Given the description of an element on the screen output the (x, y) to click on. 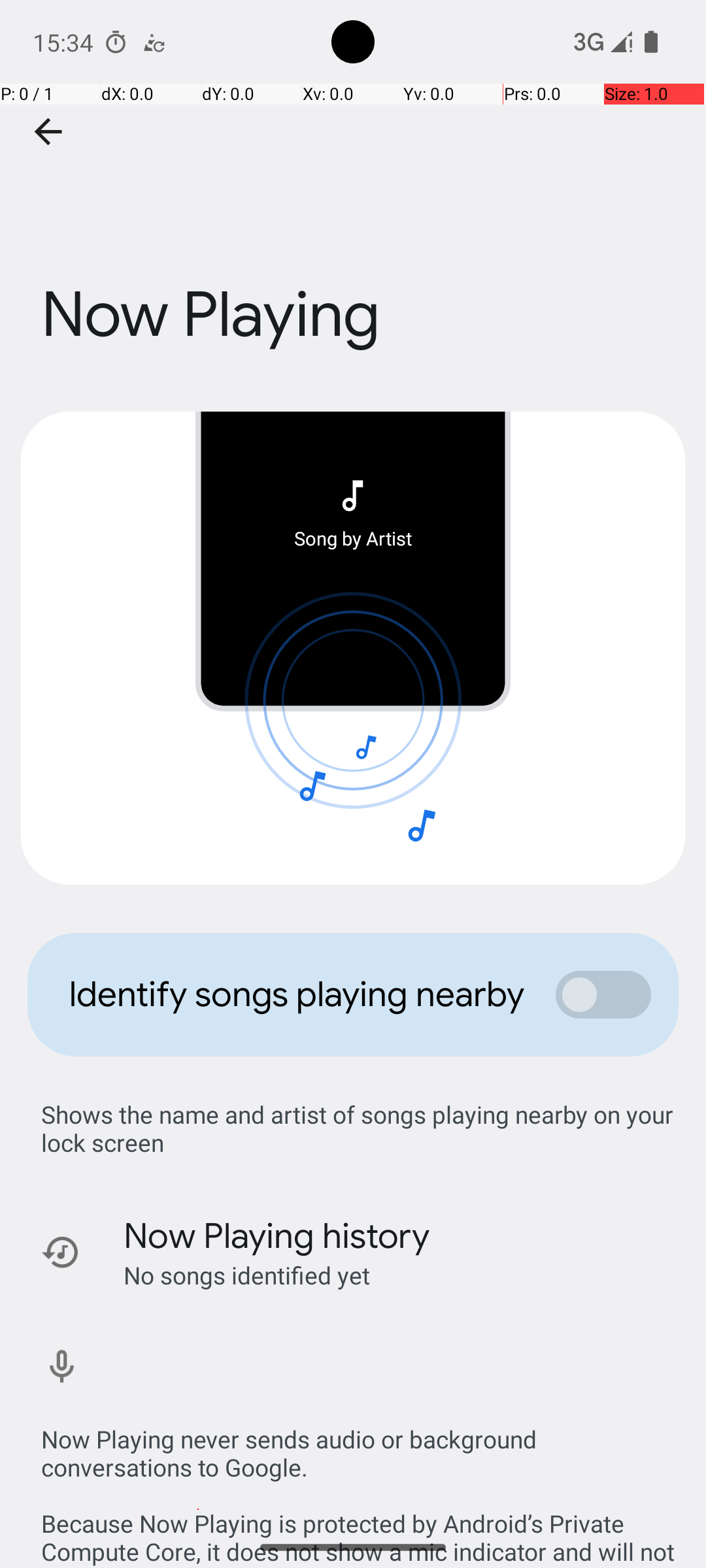
Shows the name and artist of songs playing nearby on your lock screen Element type: android.widget.TextView (359, 1128)
Now Playing history Element type: android.widget.TextView (276, 1235)
No songs identified yet Element type: android.widget.TextView (246, 1274)
Now Playing never sends audio or background conversations to Google.

Because Now Playing is protected by Android’s Private Compute Core, it does not show a mic indicator and will not appear on your Privacy dashboard. Element type: android.widget.TextView (359, 1481)
